Given the description of an element on the screen output the (x, y) to click on. 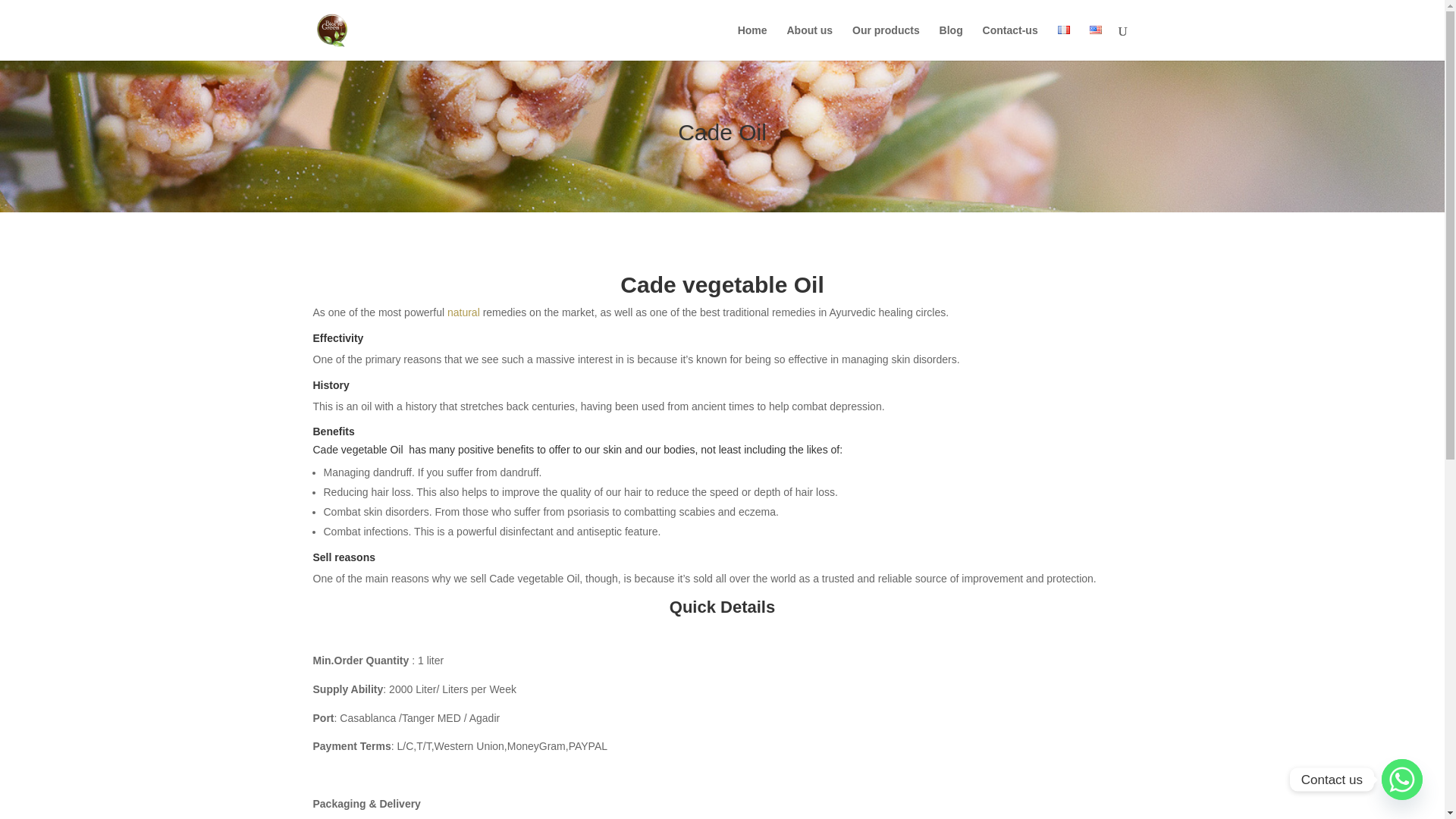
Contact-us (1010, 42)
Home (752, 42)
Blog (950, 42)
Contact us (1401, 779)
Our products (885, 42)
About us (809, 42)
natural (463, 312)
